Given the description of an element on the screen output the (x, y) to click on. 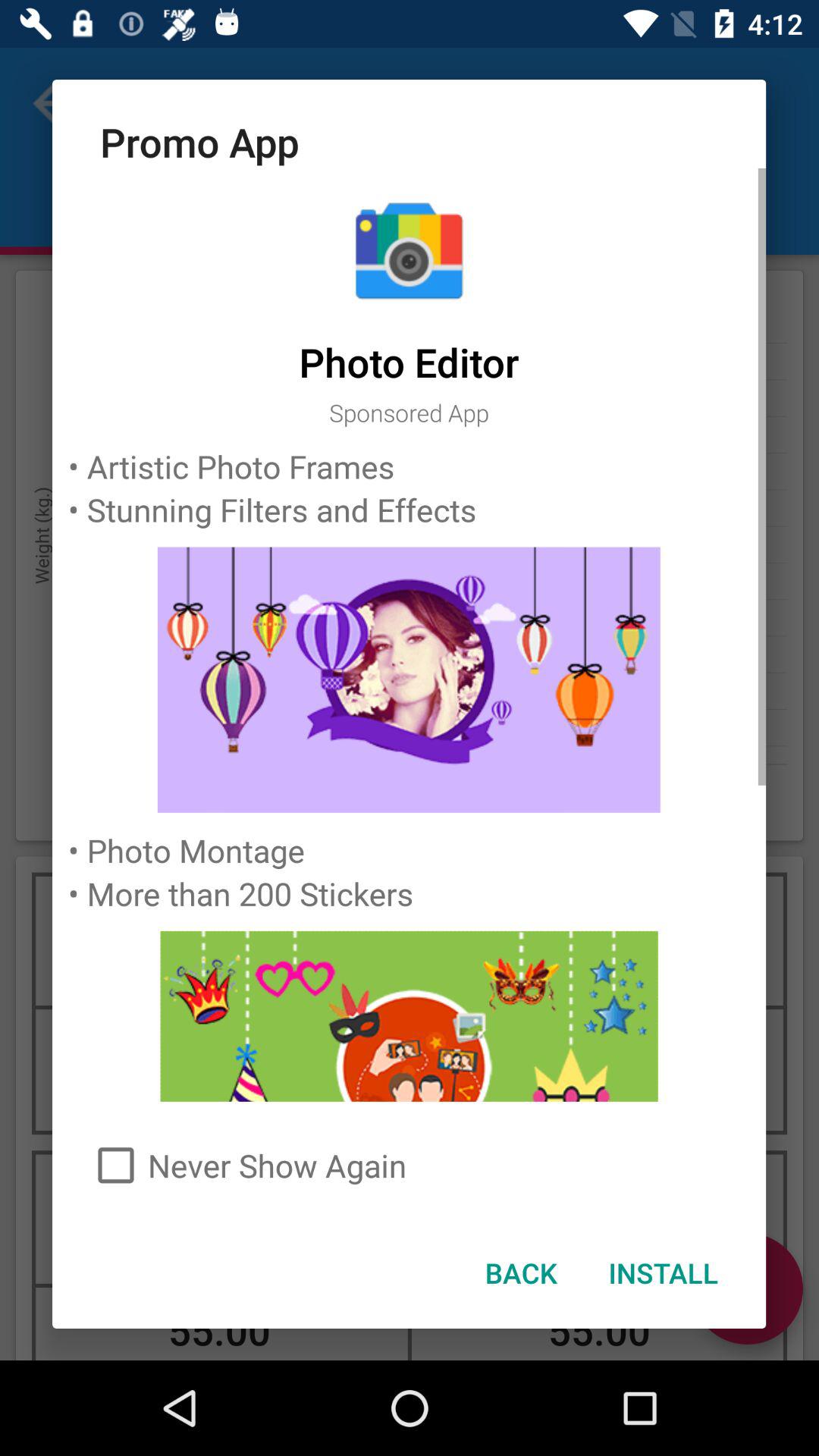
flip to the install item (663, 1272)
